Given the description of an element on the screen output the (x, y) to click on. 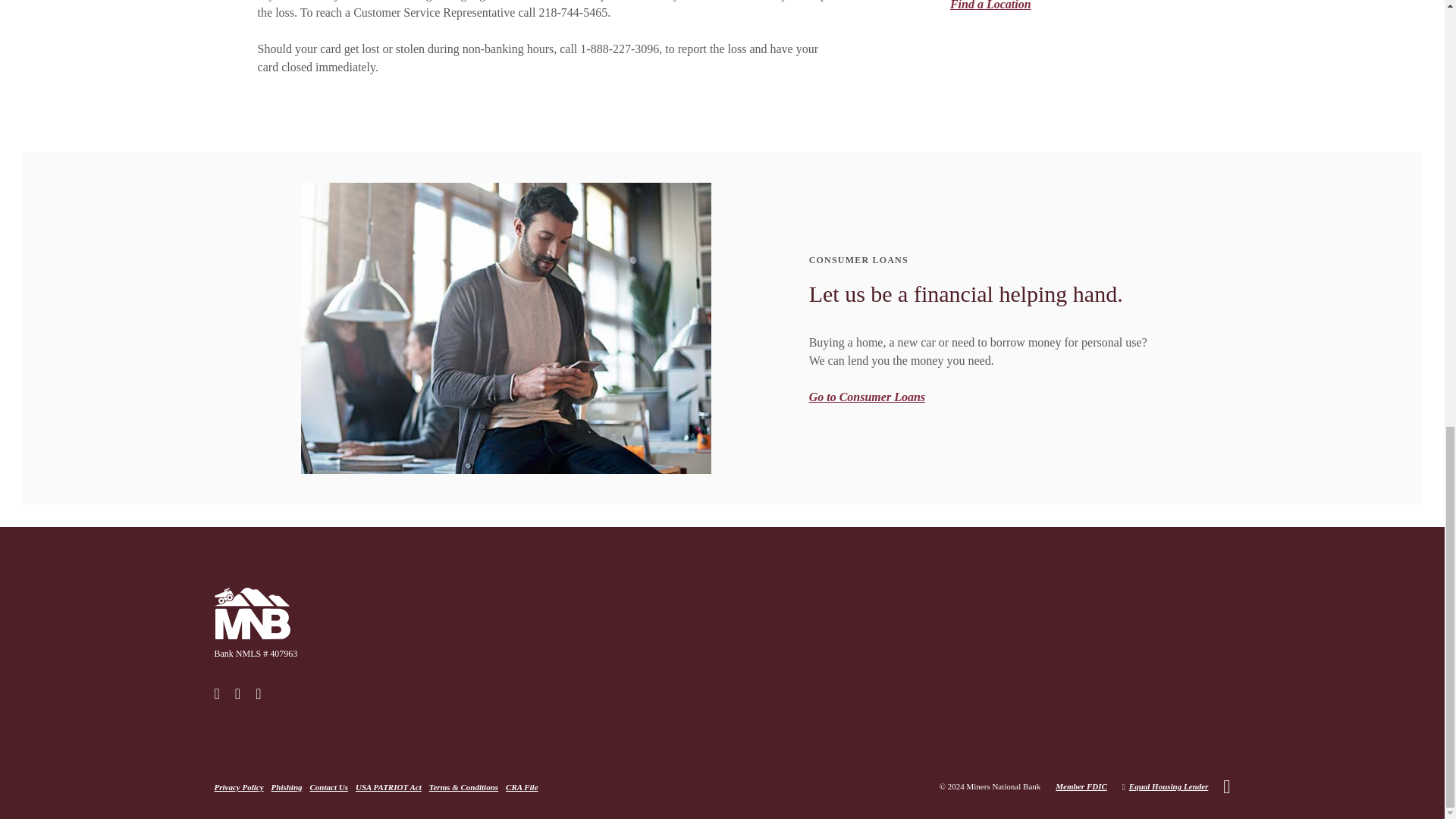
Miners National Bank, Eveleth, MN (251, 613)
